Given the description of an element on the screen output the (x, y) to click on. 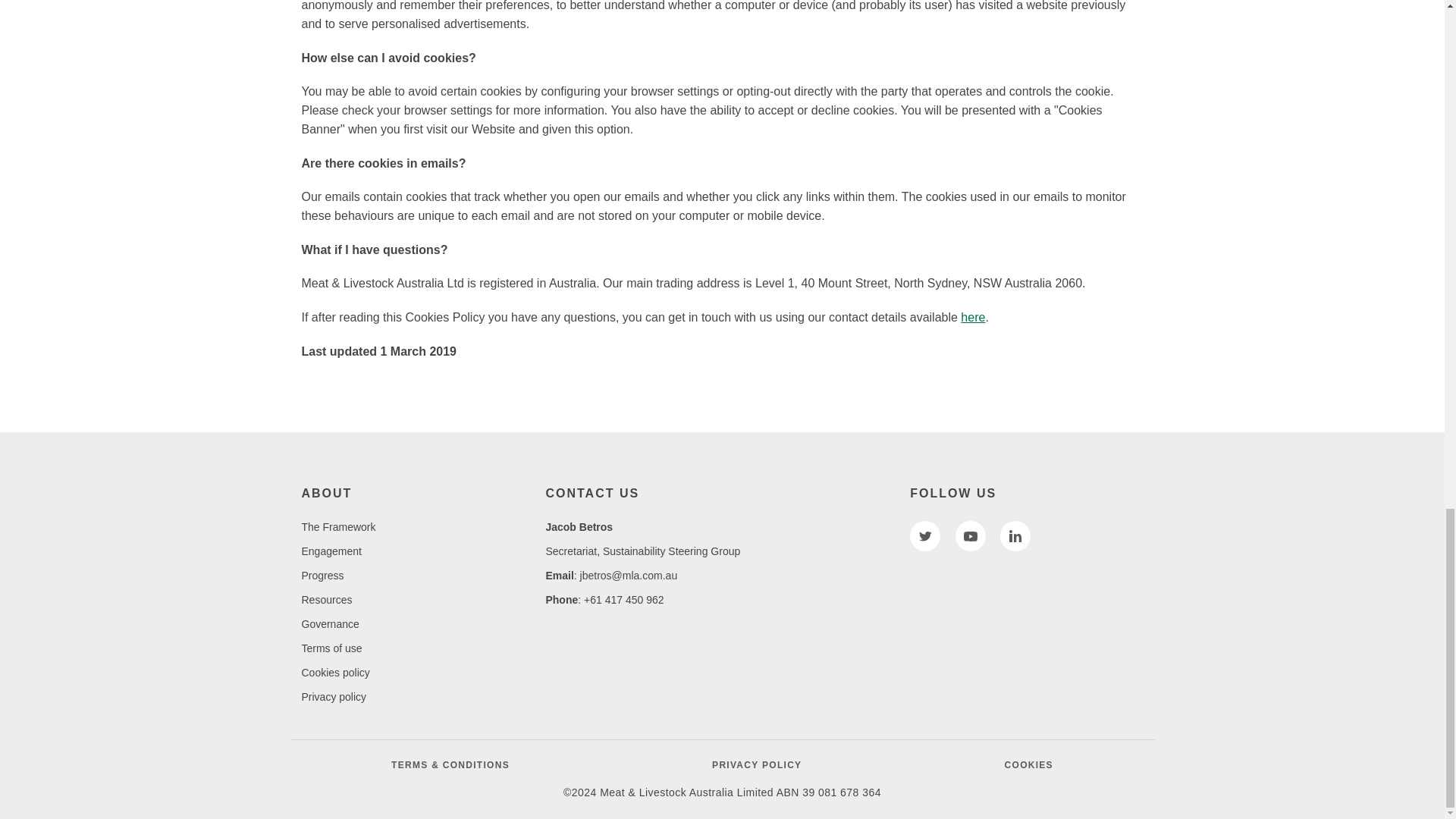
The Framework (338, 526)
Progress (322, 575)
here (972, 317)
Resources (326, 599)
Governance (330, 623)
Engagement (331, 551)
